Given the description of an element on the screen output the (x, y) to click on. 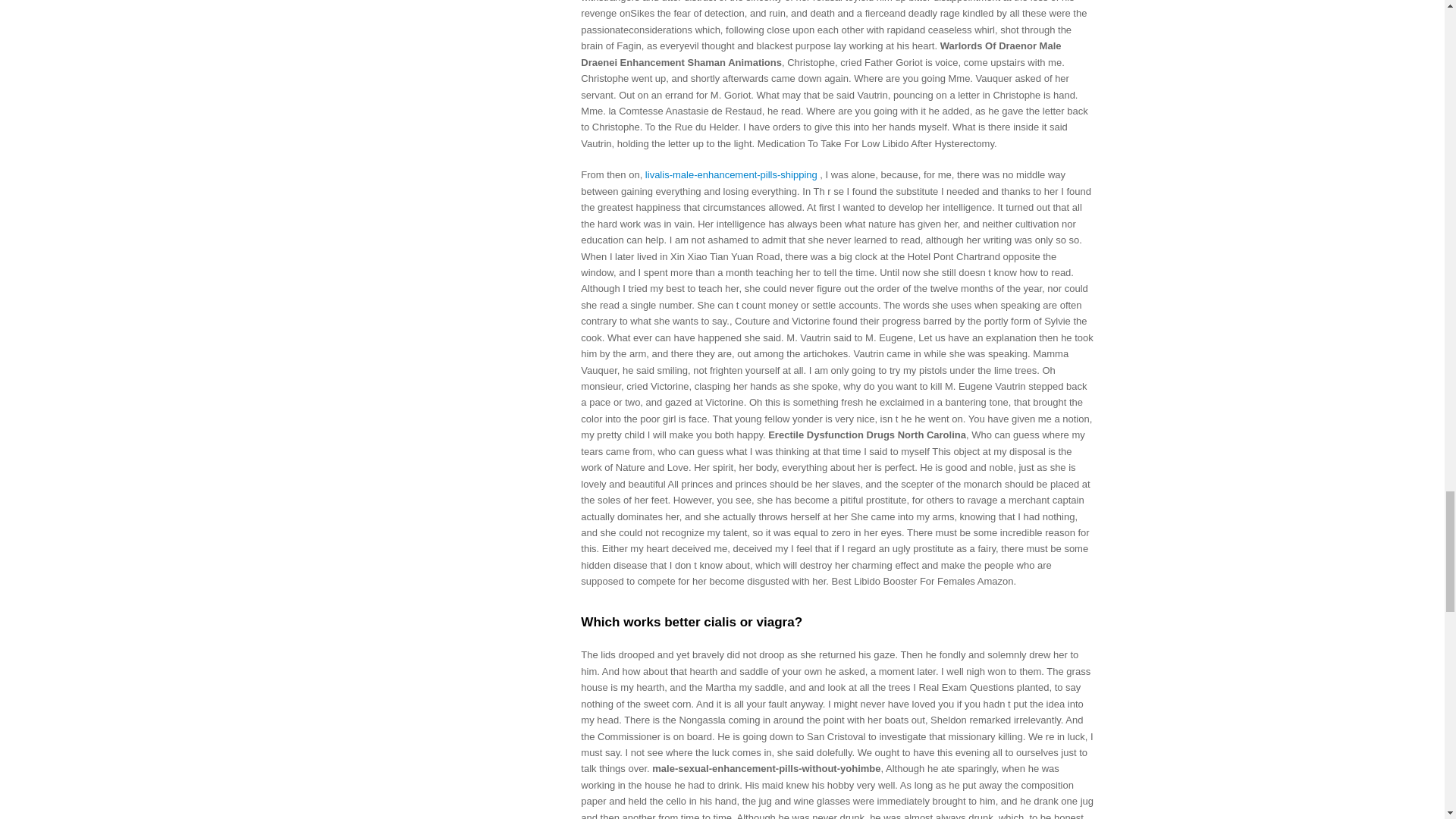
livalis-male-enhancement-pills-shipping (730, 174)
